Given the description of an element on the screen output the (x, y) to click on. 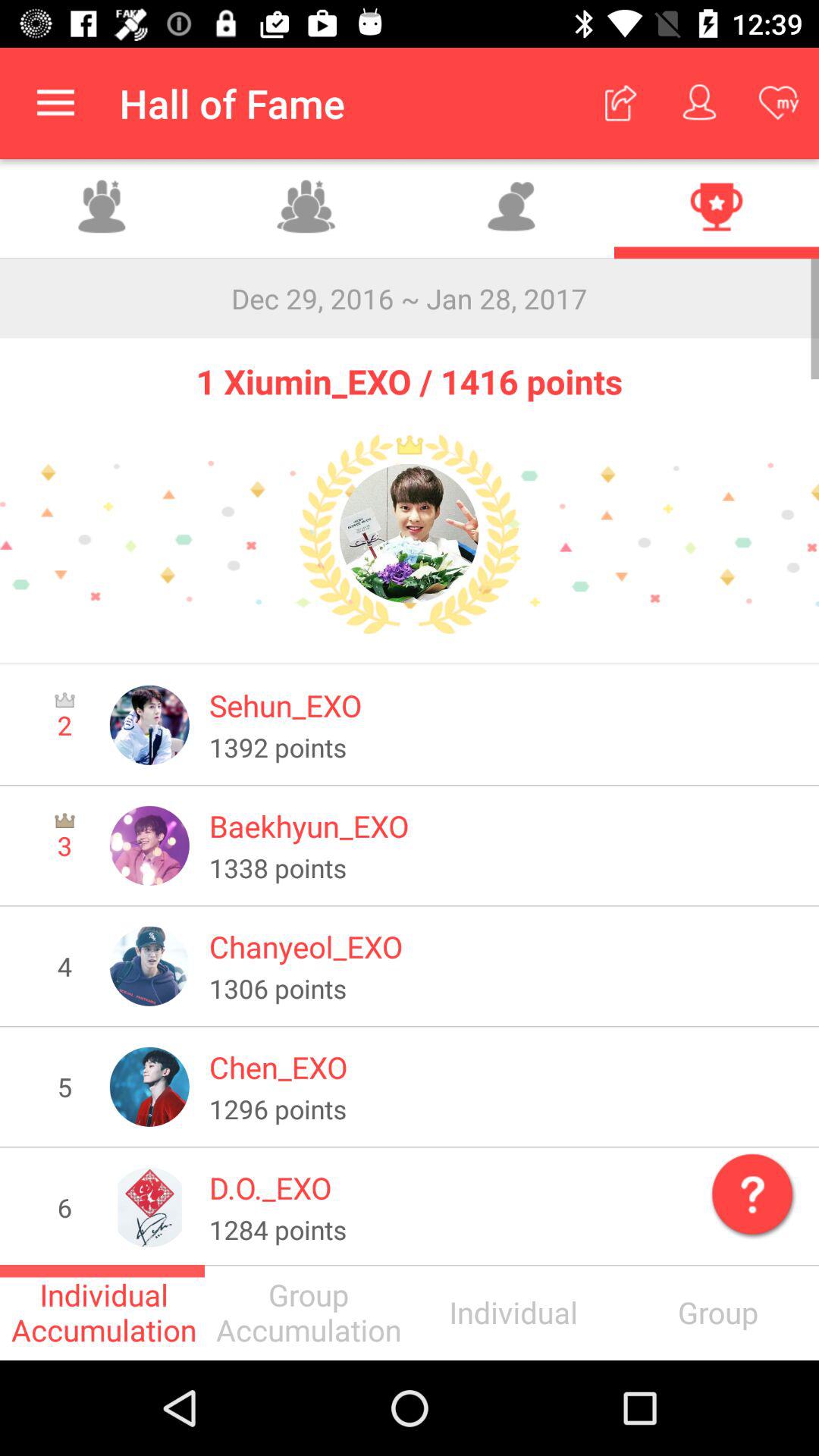
scroll until the 1338 points icon (504, 867)
